Given the description of an element on the screen output the (x, y) to click on. 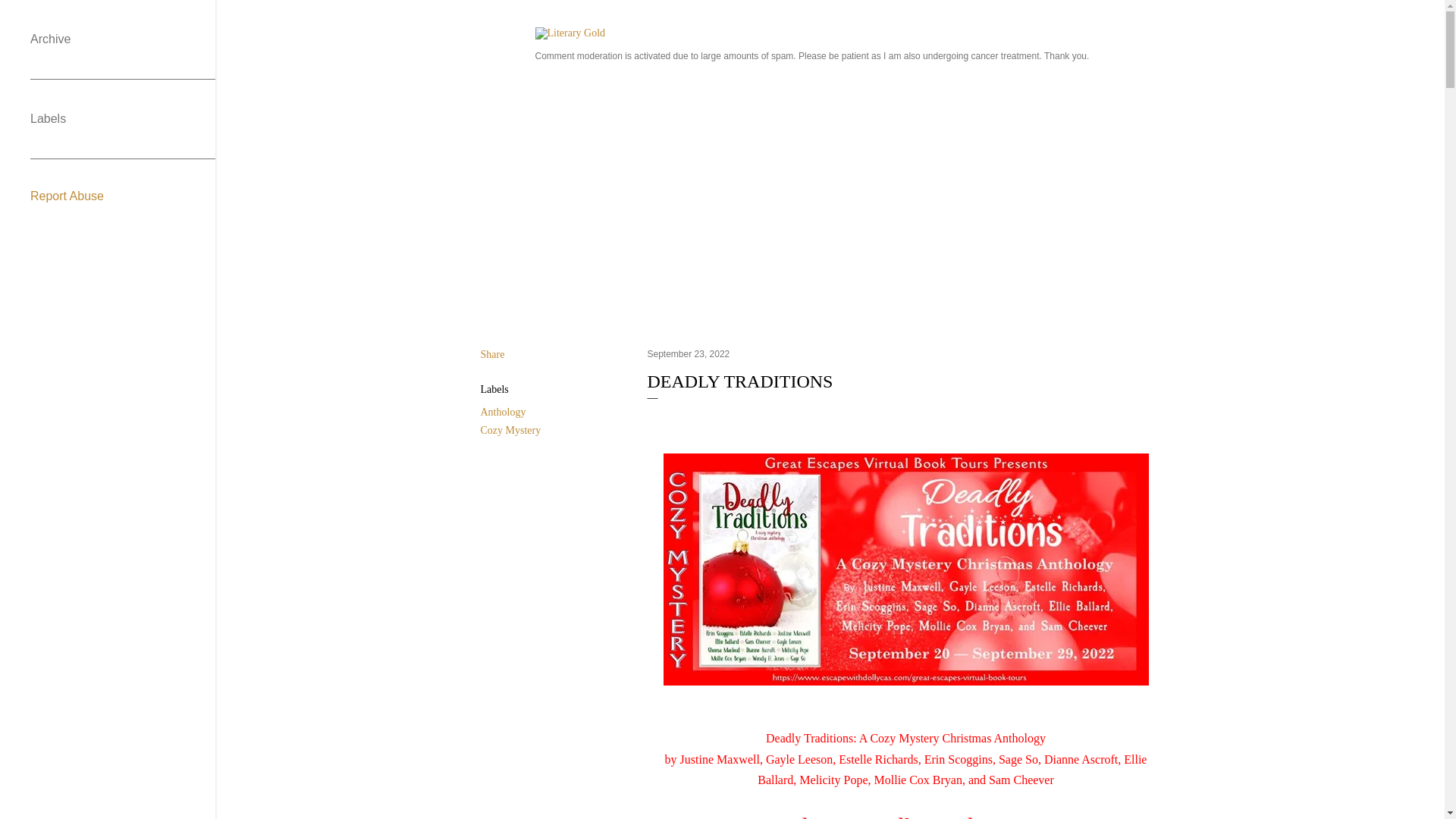
Anthology (502, 411)
Cozy Mystery (510, 430)
Share (492, 354)
September 23, 2022 (688, 353)
permanent link (688, 353)
